Given the description of an element on the screen output the (x, y) to click on. 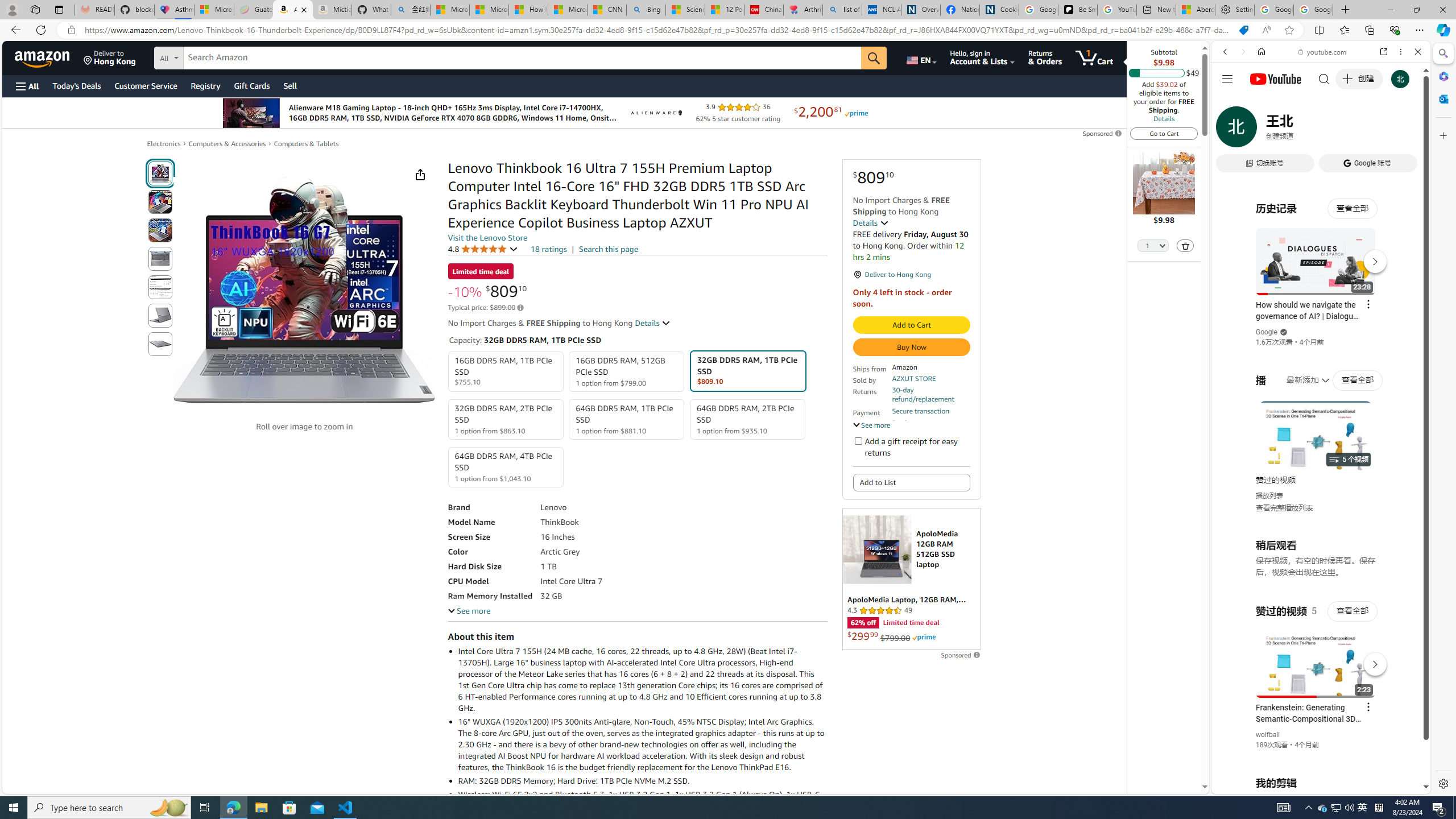
Forward (1242, 51)
Customer Service (145, 85)
Deliver to Hong Kong (109, 57)
Close tab (303, 9)
Open Menu (26, 86)
32GB DDR5 RAM, 2TB PCIe SSD 1 option from $863.10 (505, 418)
Computers & Accessories (226, 144)
Quantity Selector (1153, 246)
Add to Cart (911, 324)
Web scope (1230, 102)
Product support included (930, 427)
